Given the description of an element on the screen output the (x, y) to click on. 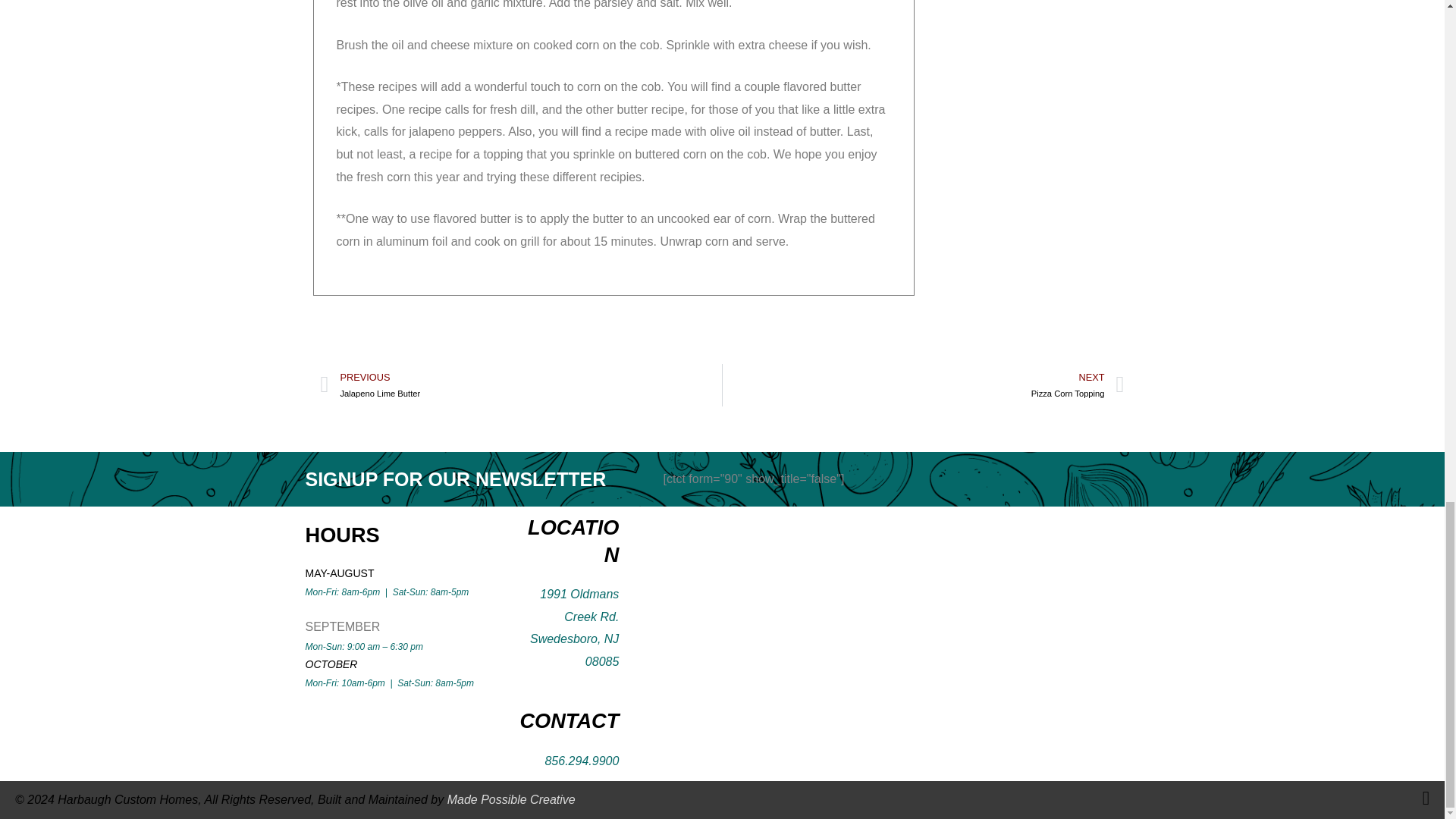
Made Possible Creative (510, 798)
856.294.9900 (581, 760)
